Given the description of an element on the screen output the (x, y) to click on. 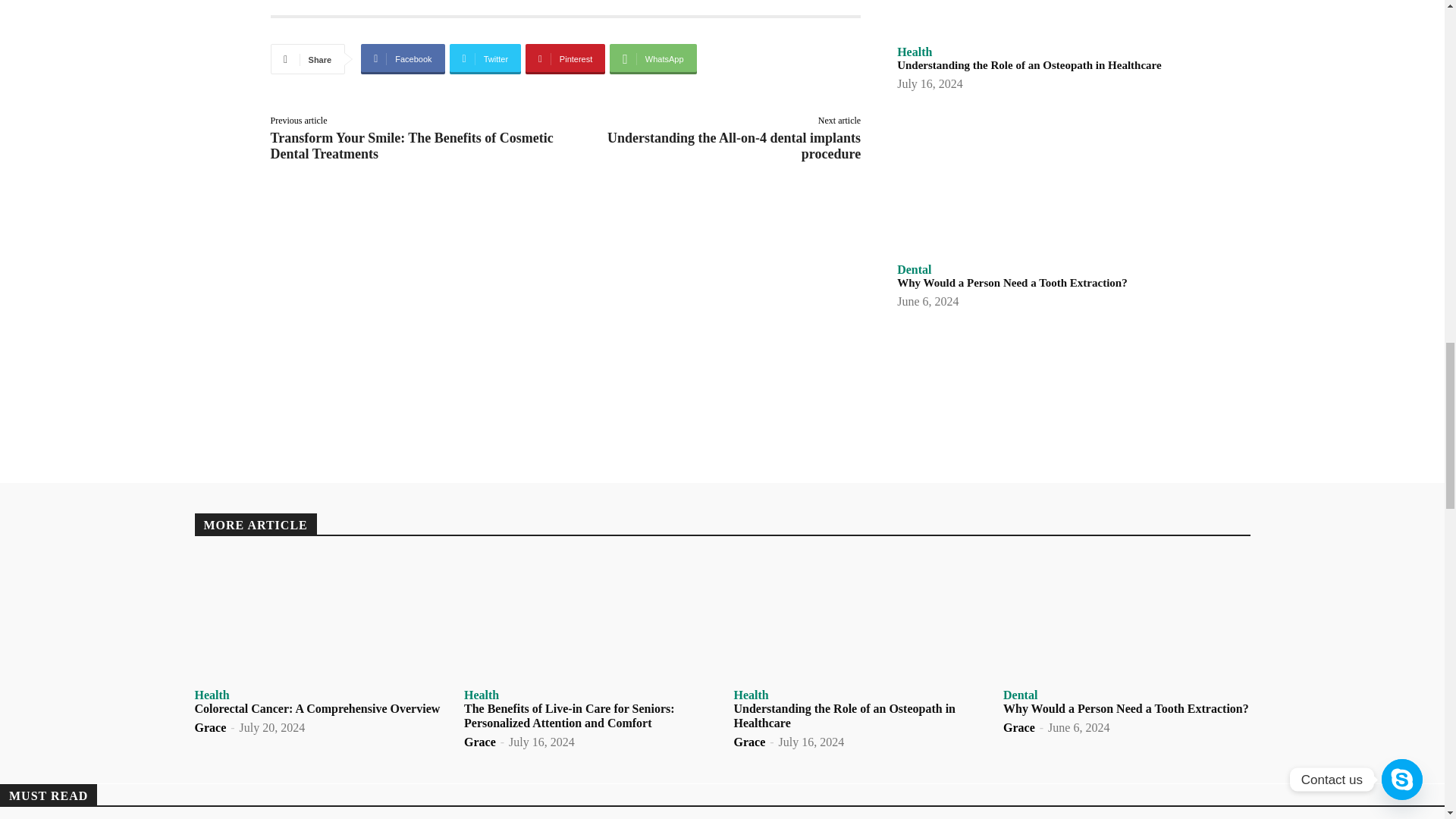
Facebook (402, 59)
